Given the description of an element on the screen output the (x, y) to click on. 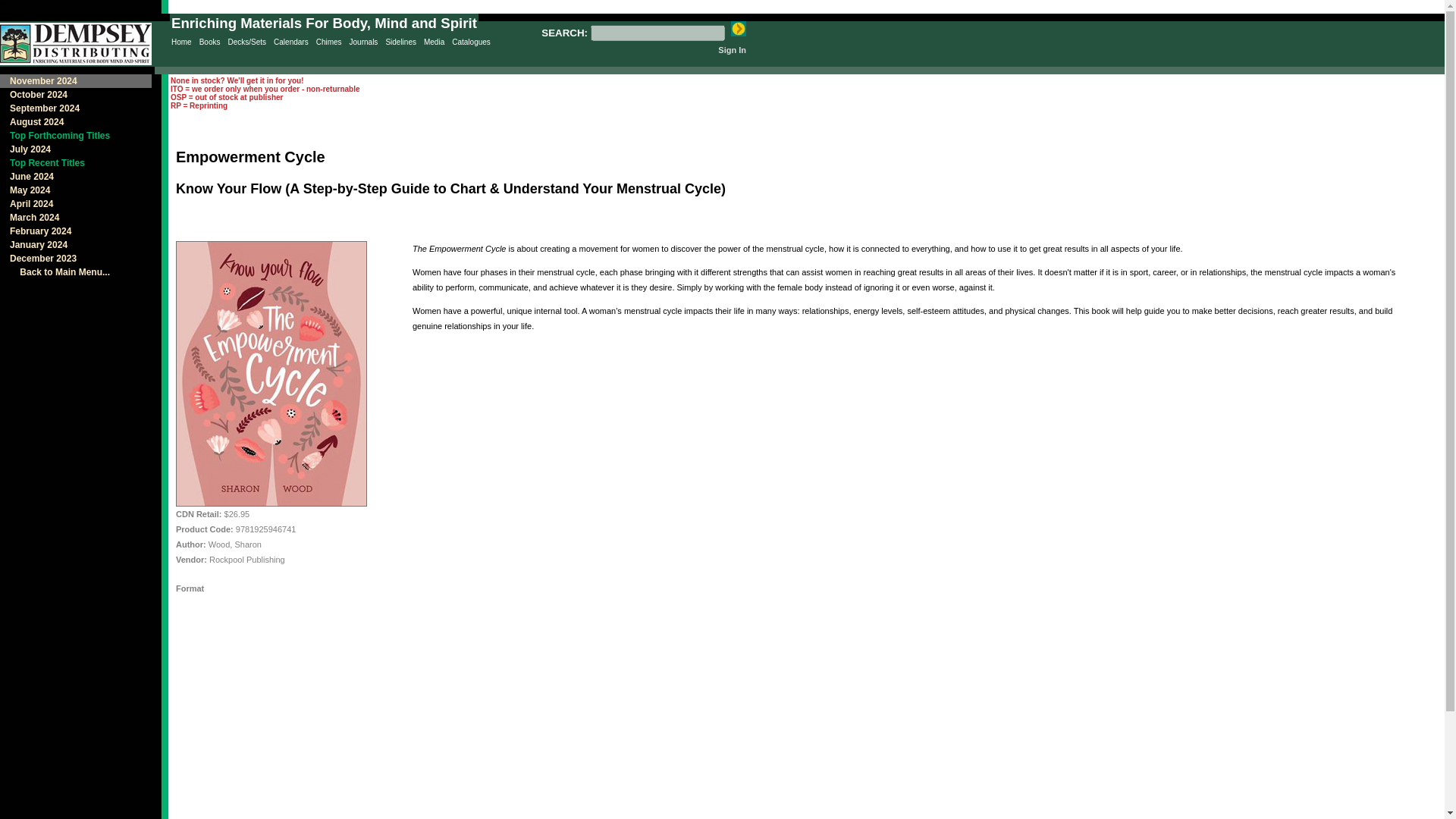
Home Page (181, 42)
Chimes (328, 42)
Catalogues (470, 42)
Top Recent Titles (43, 163)
May 2024 (25, 190)
Sign In (731, 49)
October 2024 (34, 94)
February 2024 (36, 231)
Top Forthcoming Titles (56, 135)
June 2024 (27, 176)
    Back to Main Menu... (56, 271)
Chimes (328, 42)
Calendars (290, 42)
Home (181, 42)
Books (210, 42)
